Given the description of an element on the screen output the (x, y) to click on. 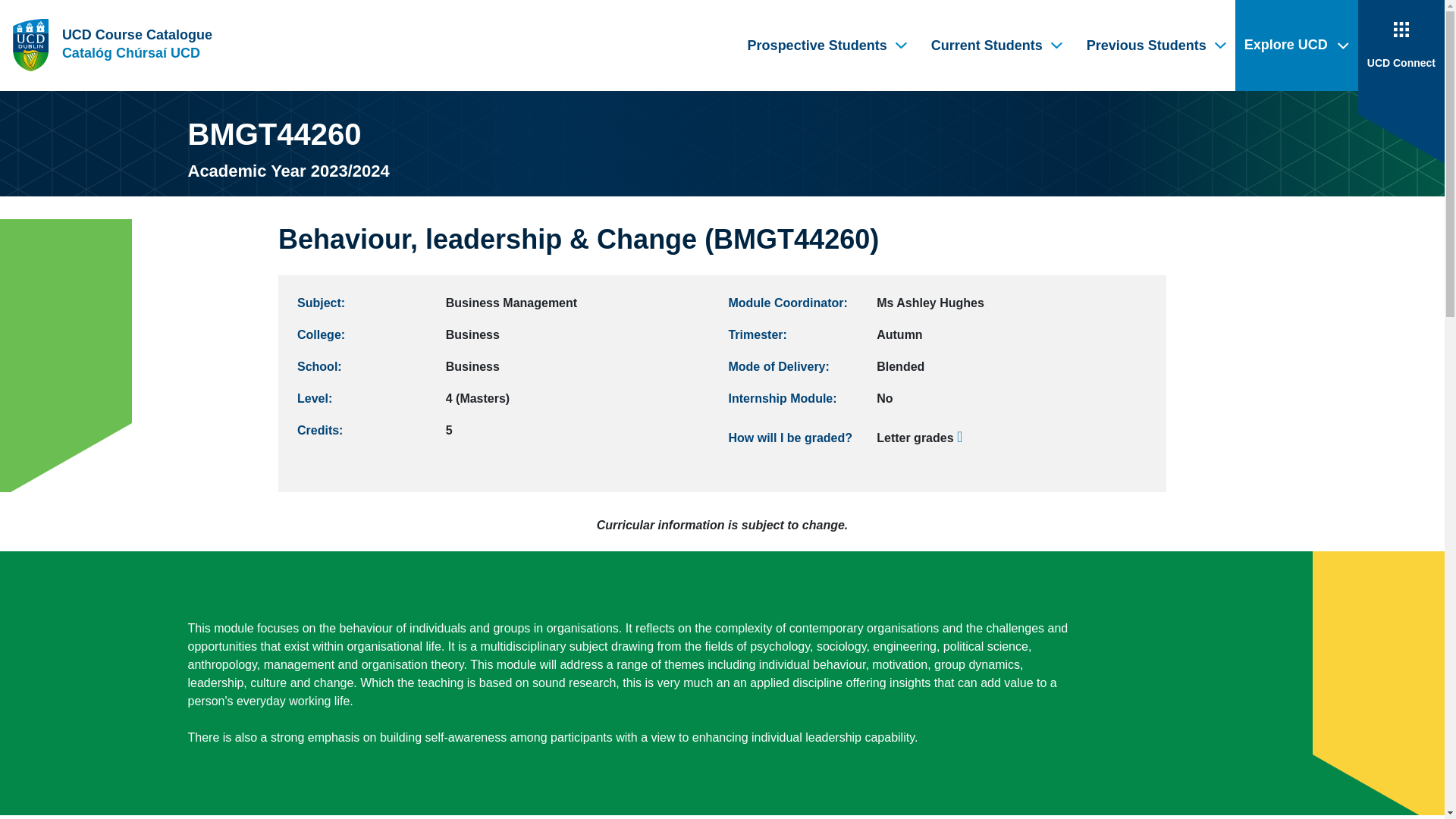
Current Students (993, 45)
Previous Students (1152, 45)
Explore UCD (1296, 45)
Prospective Students (823, 45)
